Given the description of an element on the screen output the (x, y) to click on. 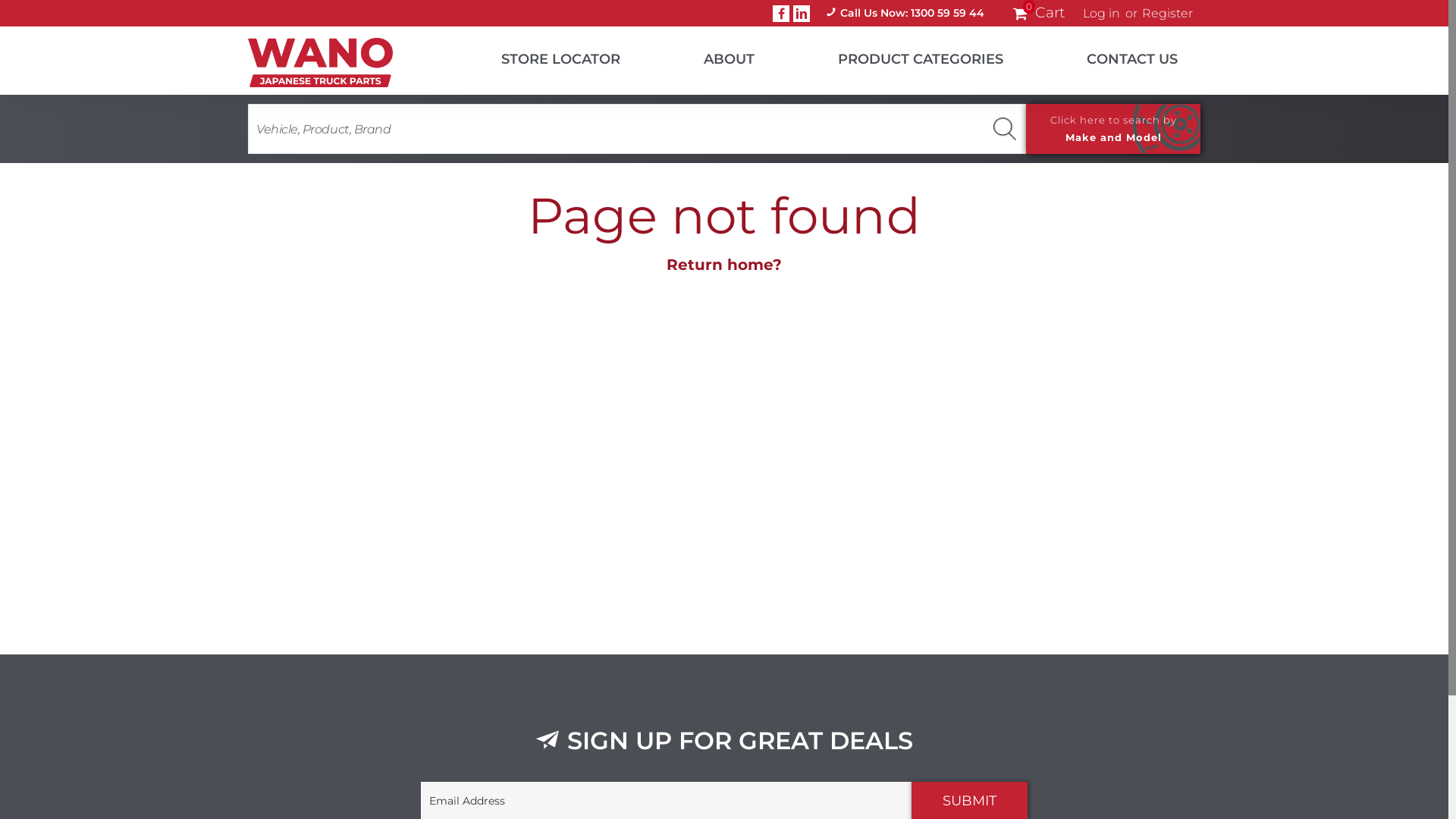
Facebook Element type: hover (780, 12)
Call Us Now: 1300 59 59 44 Element type: text (904, 13)
Log in Element type: text (1101, 13)
STORE LOCATOR Element type: text (541, 55)
ABOUT Element type: text (710, 55)
PRODUCT CATEGORIES Element type: text (901, 55)
Register Element type: text (1167, 13)
Click here to search by
Make and Model Element type: text (1113, 128)
CONTACT US Element type: text (1113, 55)
Return home? Element type: text (723, 264)
LinkedIn Element type: hover (801, 12)
